Given the description of an element on the screen output the (x, y) to click on. 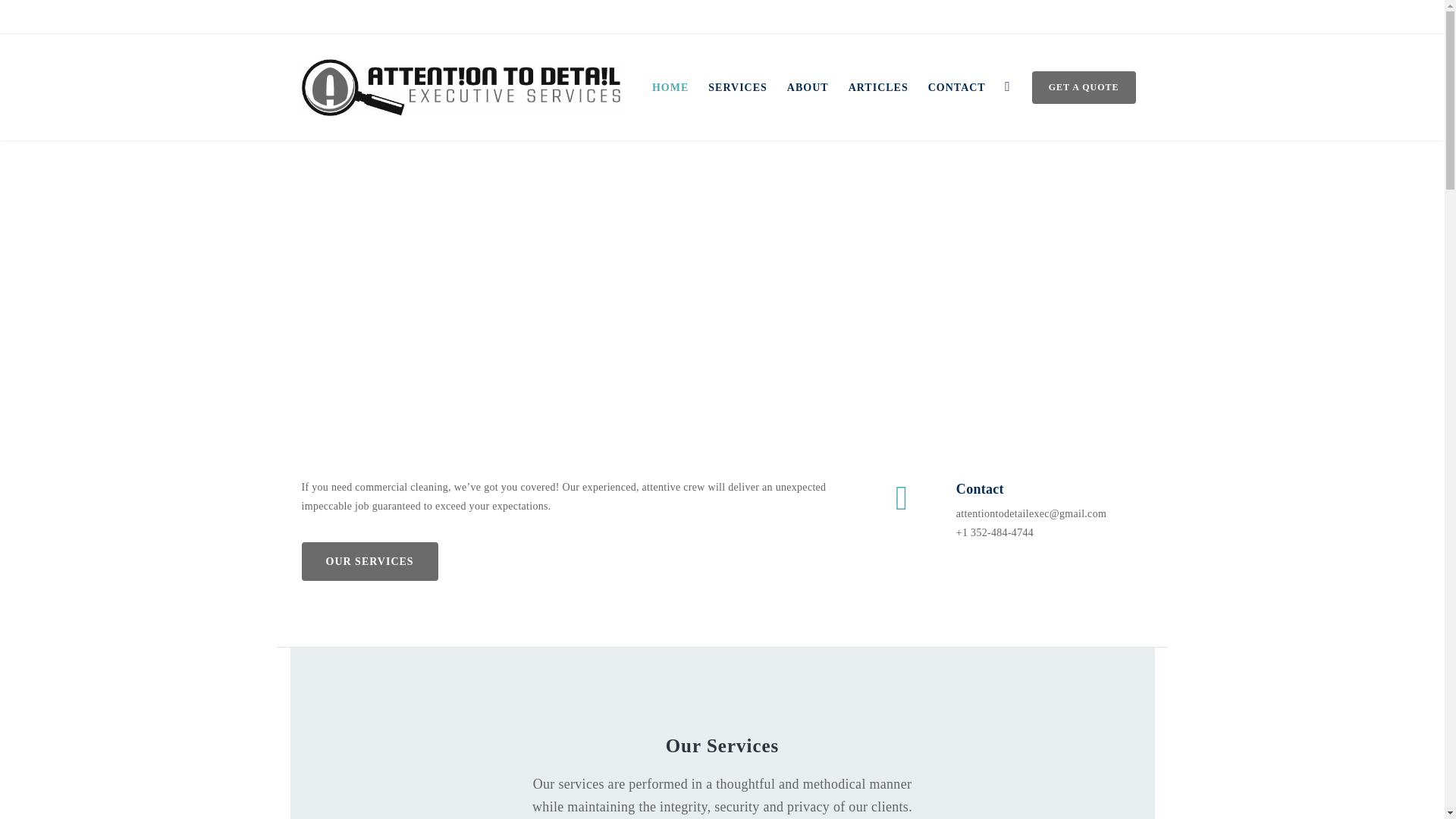
GET A QUOTE (1083, 87)
Facebook (1135, 15)
OUR SERVICES (369, 561)
